Given the description of an element on the screen output the (x, y) to click on. 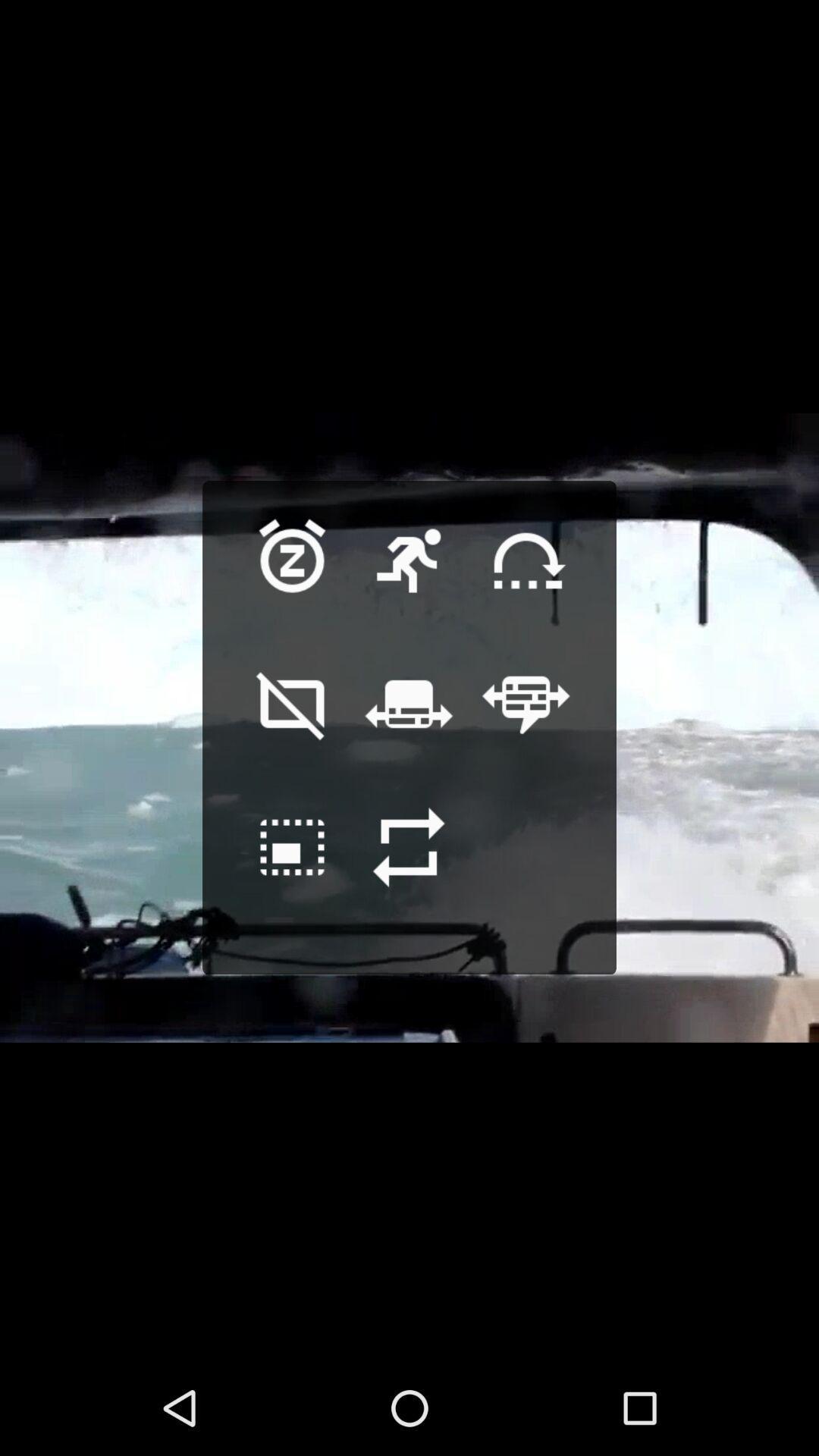
activate run mode (408, 584)
